Given the description of an element on the screen output the (x, y) to click on. 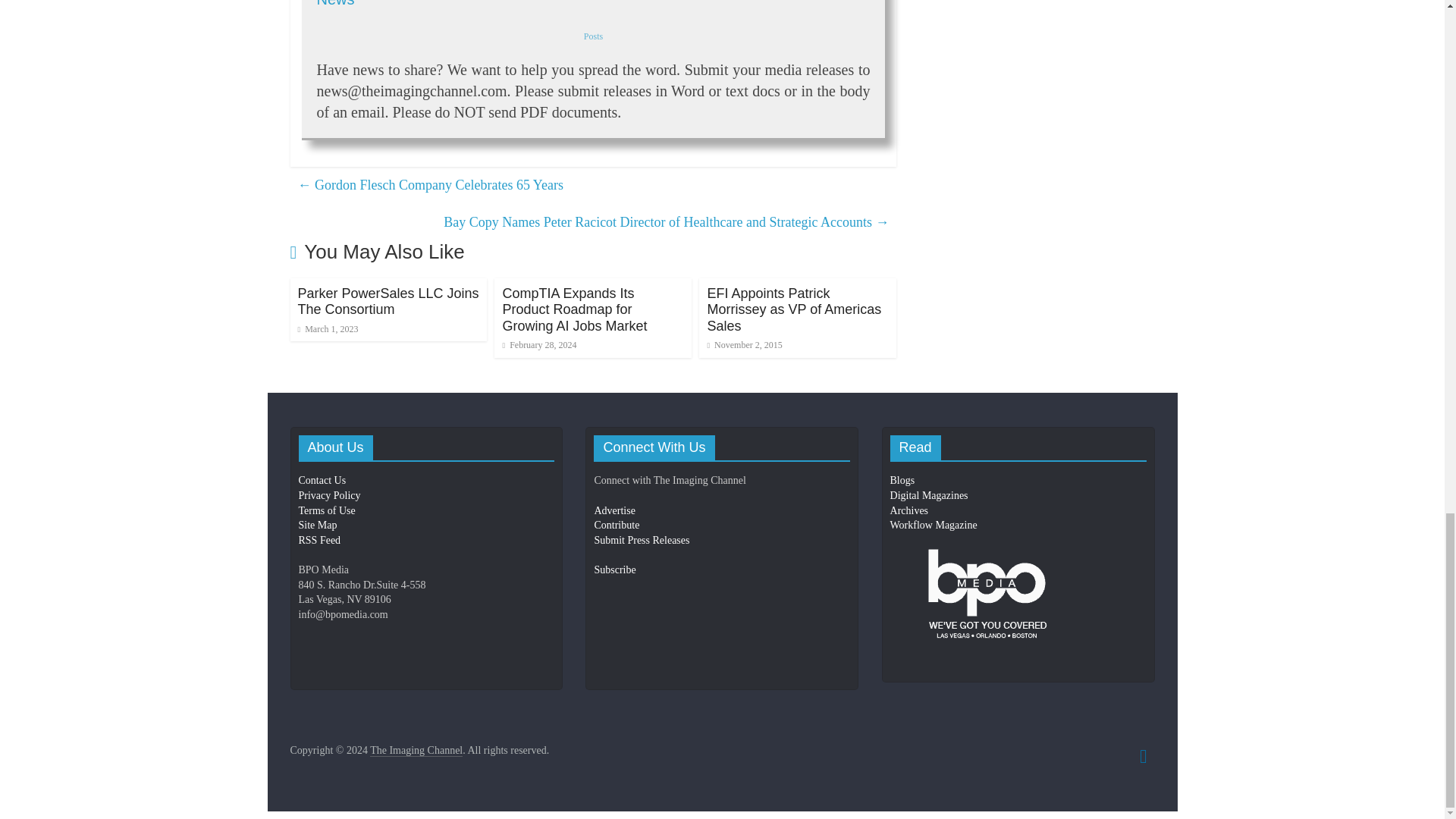
9:21 am (327, 328)
Parker PowerSales LLC Joins The Consortium (388, 301)
6:41 pm (539, 344)
EFI Appoints Patrick Morrissey as VP of Americas Sales (793, 309)
